Given the description of an element on the screen output the (x, y) to click on. 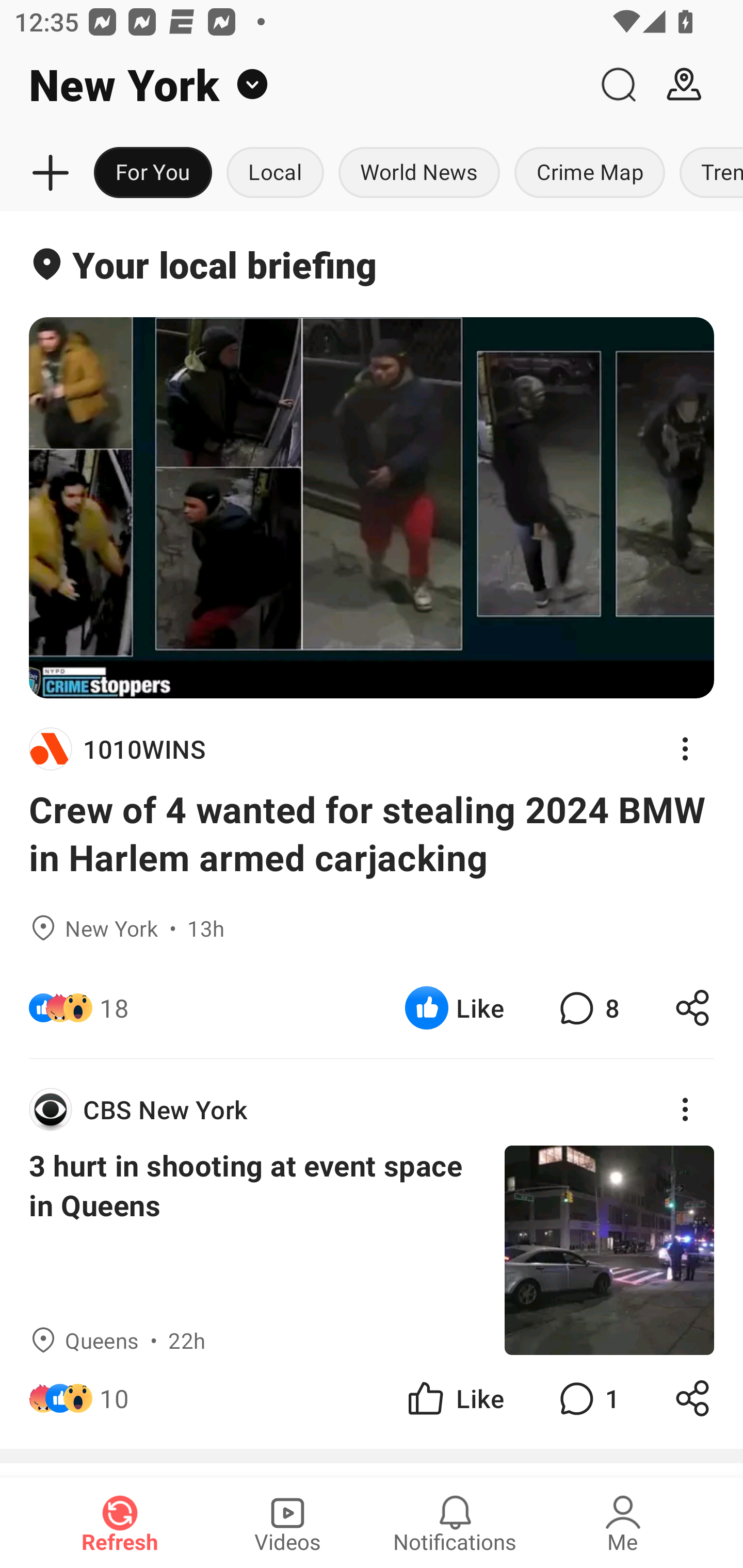
New York (292, 84)
For You (152, 172)
Local (275, 172)
World News (419, 172)
Crime Map (589, 172)
18 (114, 1007)
Like (454, 1007)
8 (587, 1007)
10 (114, 1397)
Like (454, 1397)
1 (587, 1397)
Videos (287, 1522)
Notifications (455, 1522)
Me (622, 1522)
